Given the description of an element on the screen output the (x, y) to click on. 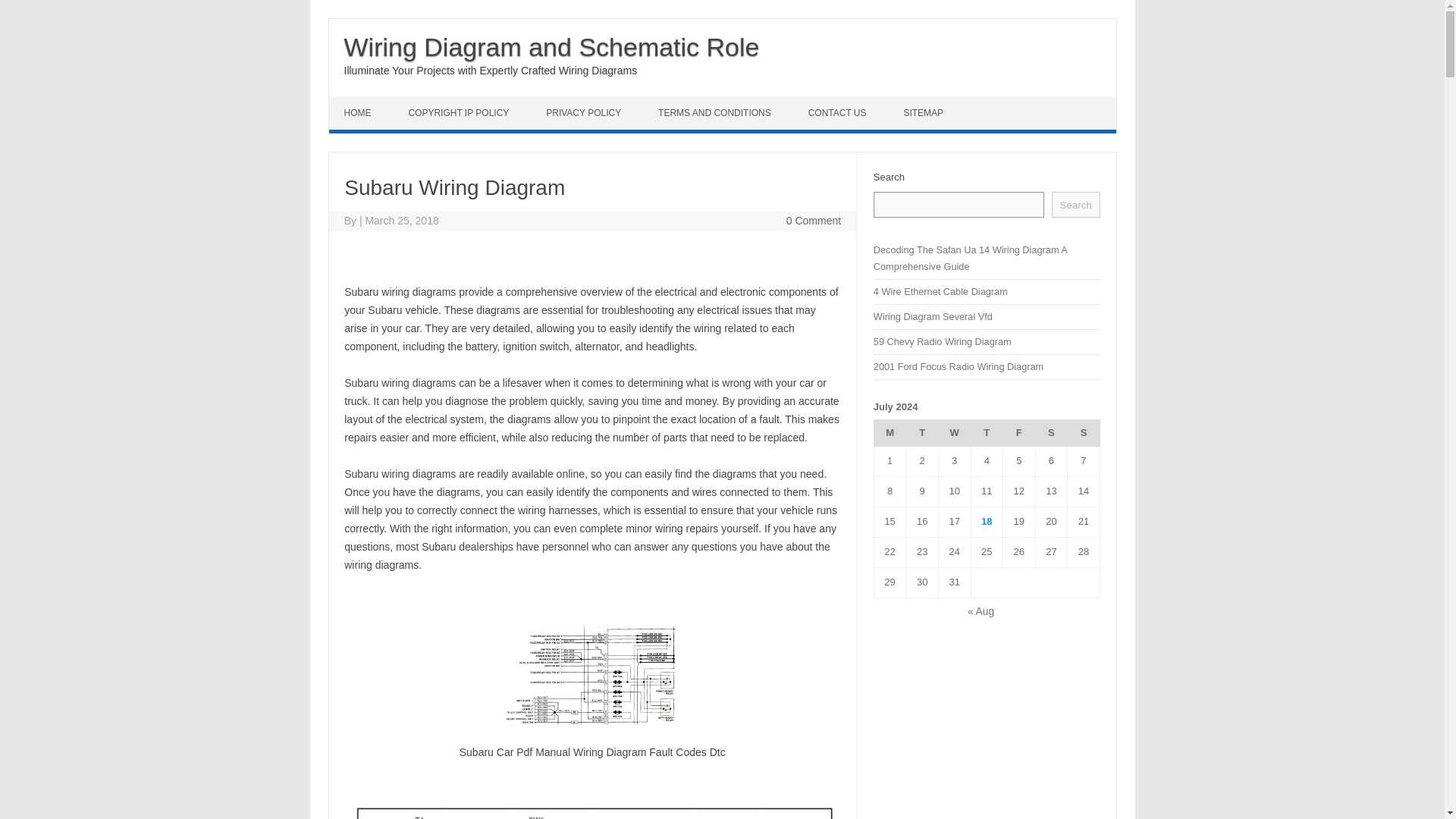
SITEMAP (925, 112)
COPYRIGHT IP POLICY (460, 112)
4 Wire Ethernet Cable Diagram (940, 291)
Skip to content (363, 101)
Subaru Car Pdf Manual Wiring Diagram Fault Codes Dtc (592, 672)
1 (889, 460)
Wiring Diagram and Schematic Role (551, 46)
HOME (359, 112)
Skip to content (363, 101)
59 Chevy Radio Wiring Diagram (942, 341)
CONTACT US (839, 112)
0 Comment (813, 220)
